Given the description of an element on the screen output the (x, y) to click on. 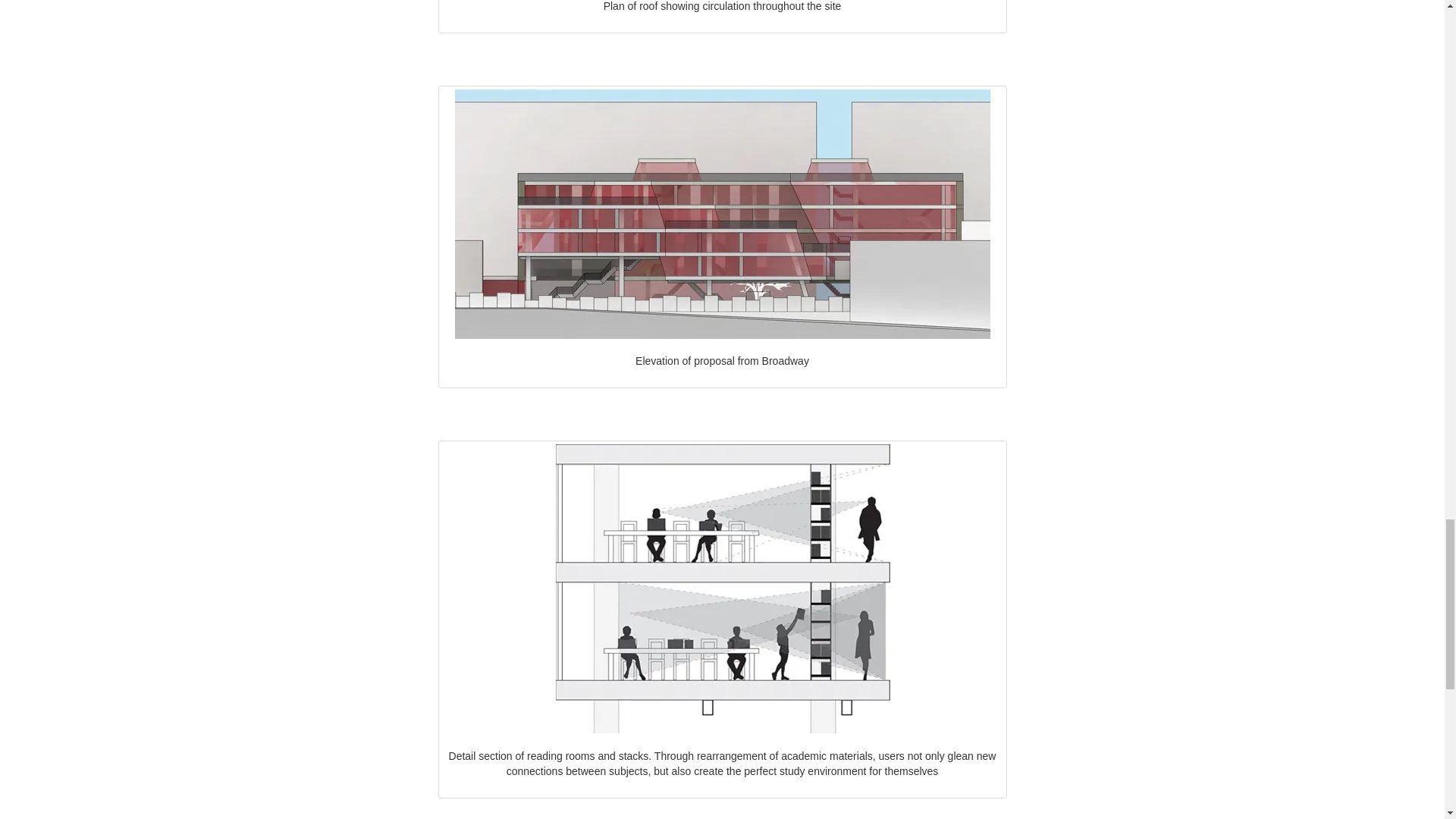
sukkahville competition (939, 818)
